Given the description of an element on the screen output the (x, y) to click on. 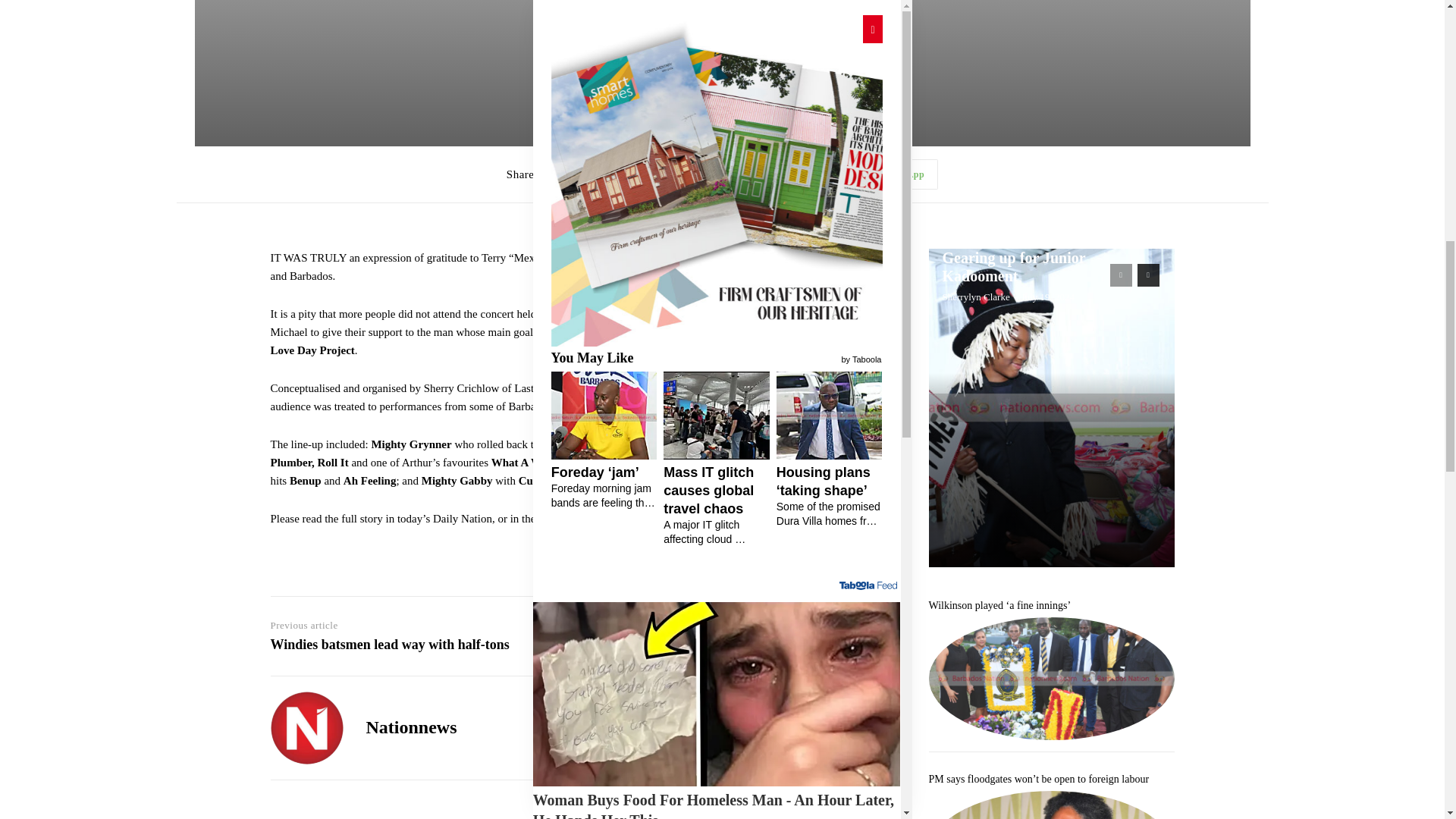
Mass IT glitch causes global travel chaos (809, 204)
In Custody: Enrico Dervent Carter (809, 650)
Sponsored (879, 488)
Sponsored (879, 41)
